Given the description of an element on the screen output the (x, y) to click on. 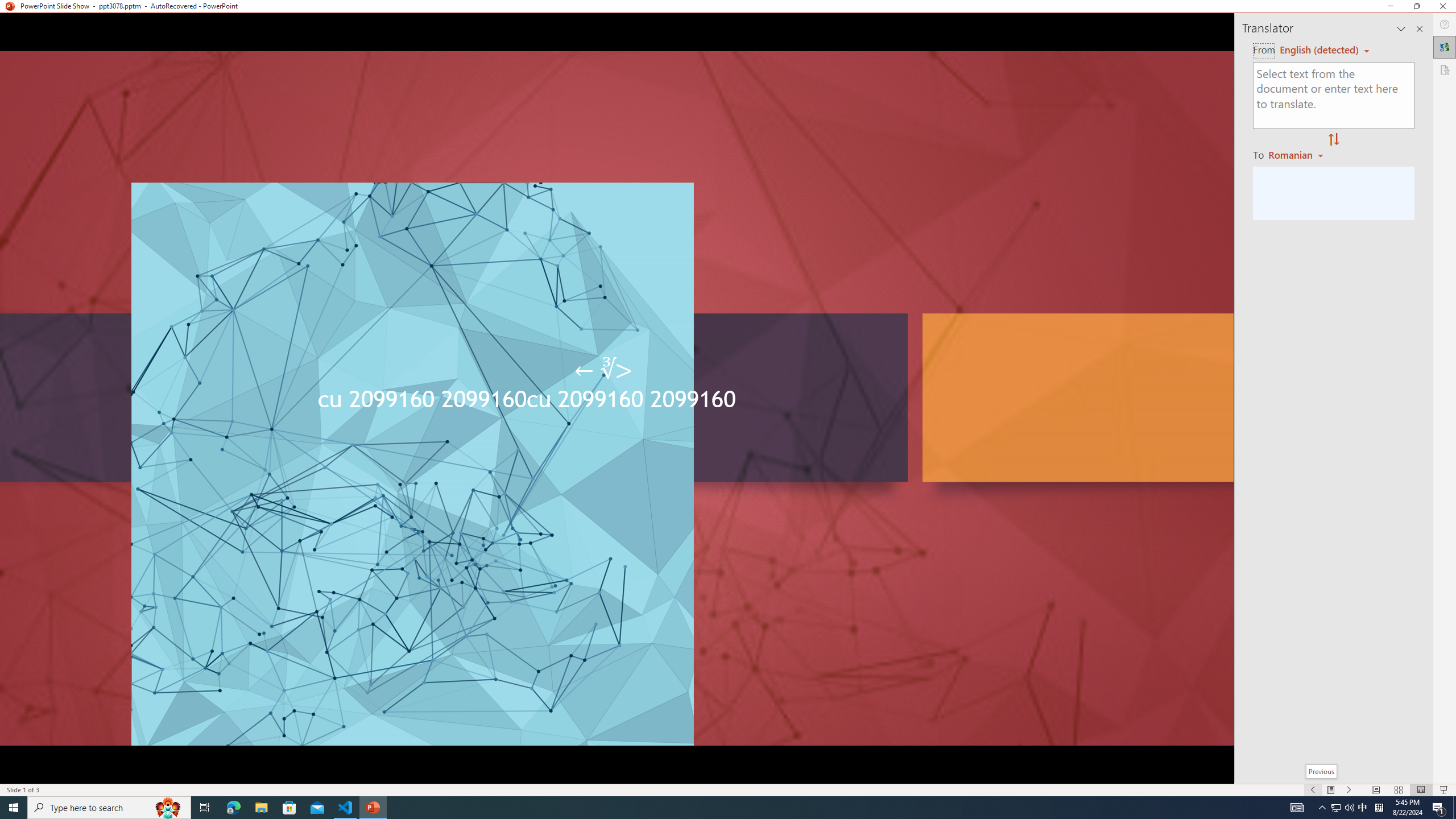
Czech (detected) (1319, 50)
Reading View (1420, 790)
Normal (1375, 790)
System (6, 6)
Romanian (1296, 154)
Menu On (1331, 790)
Slide Sorter (1398, 790)
Previous (1321, 771)
Slide Show (1444, 790)
Slide Show Previous On (1313, 790)
Slide Show Next On (1349, 790)
System (6, 6)
